Given the description of an element on the screen output the (x, y) to click on. 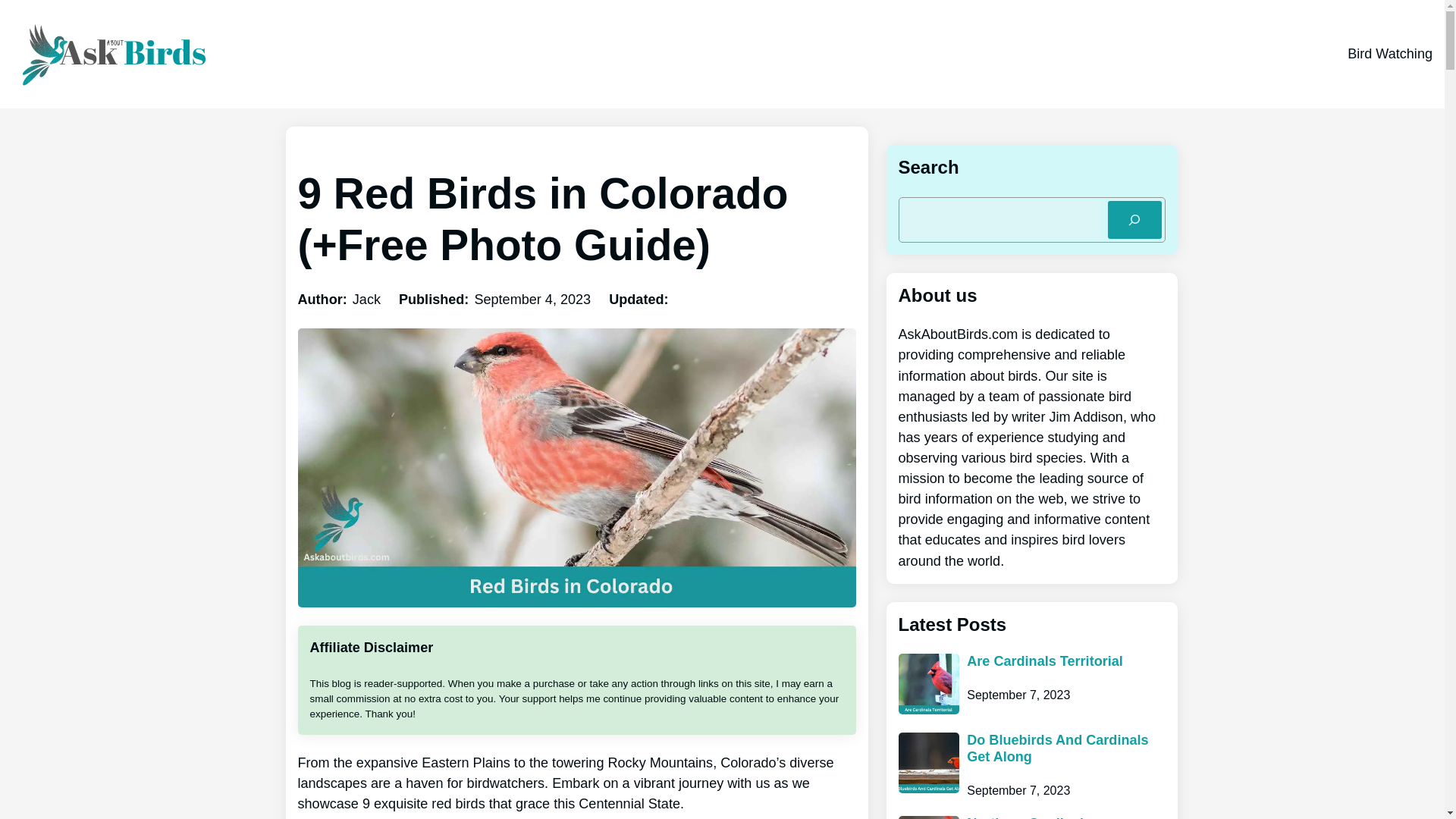
Northern Cardinal (1024, 817)
Are Cardinals Territorial (1044, 661)
Do Bluebirds And Cardinals Get Along (1065, 748)
Bird Watching (1390, 53)
